Given the description of an element on the screen output the (x, y) to click on. 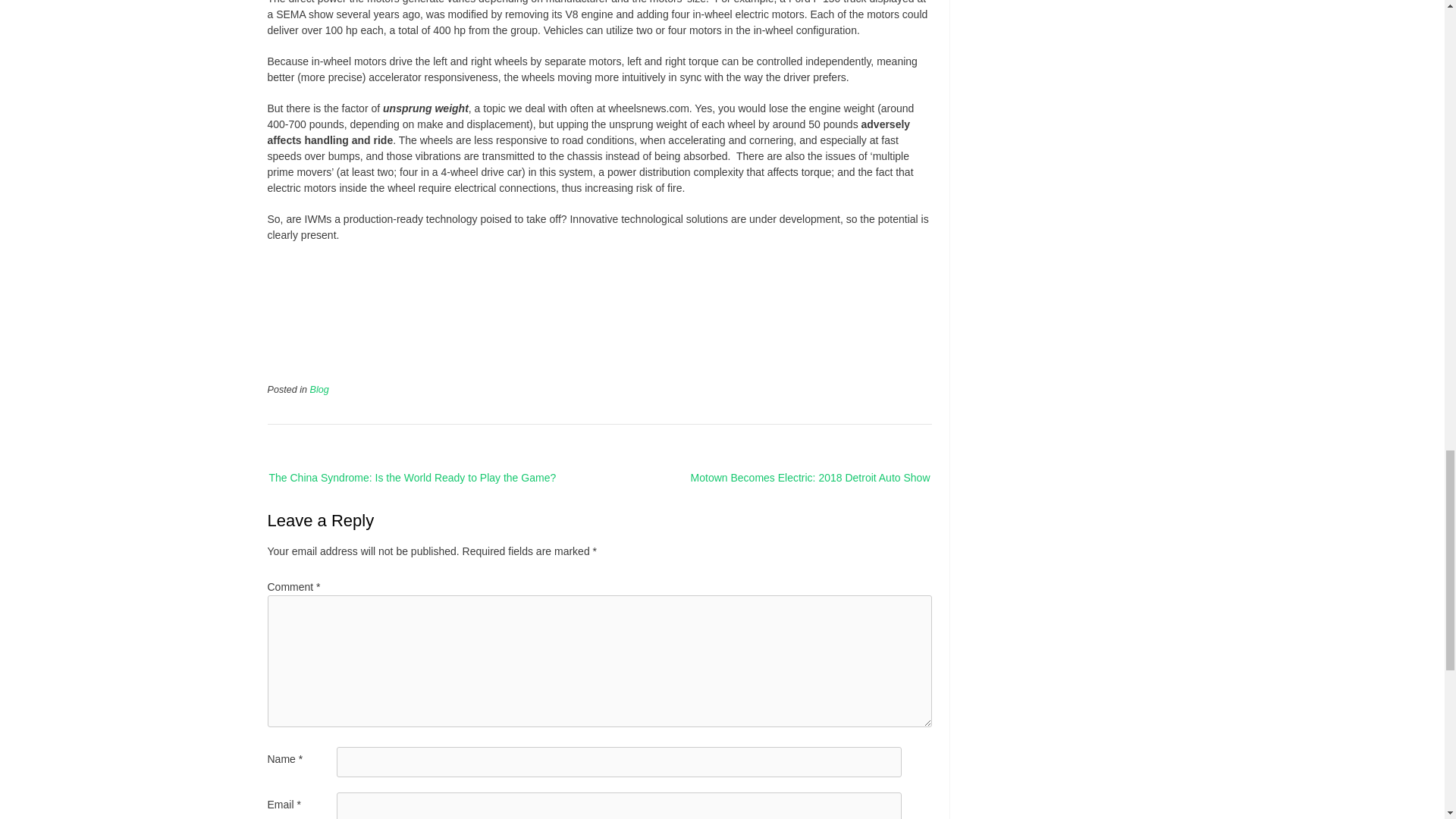
Motown Becomes Electric: 2018 Detroit Auto Show (796, 478)
Blog (319, 389)
The China Syndrome: Is the World Ready to Play the Game? (426, 478)
